Given the description of an element on the screen output the (x, y) to click on. 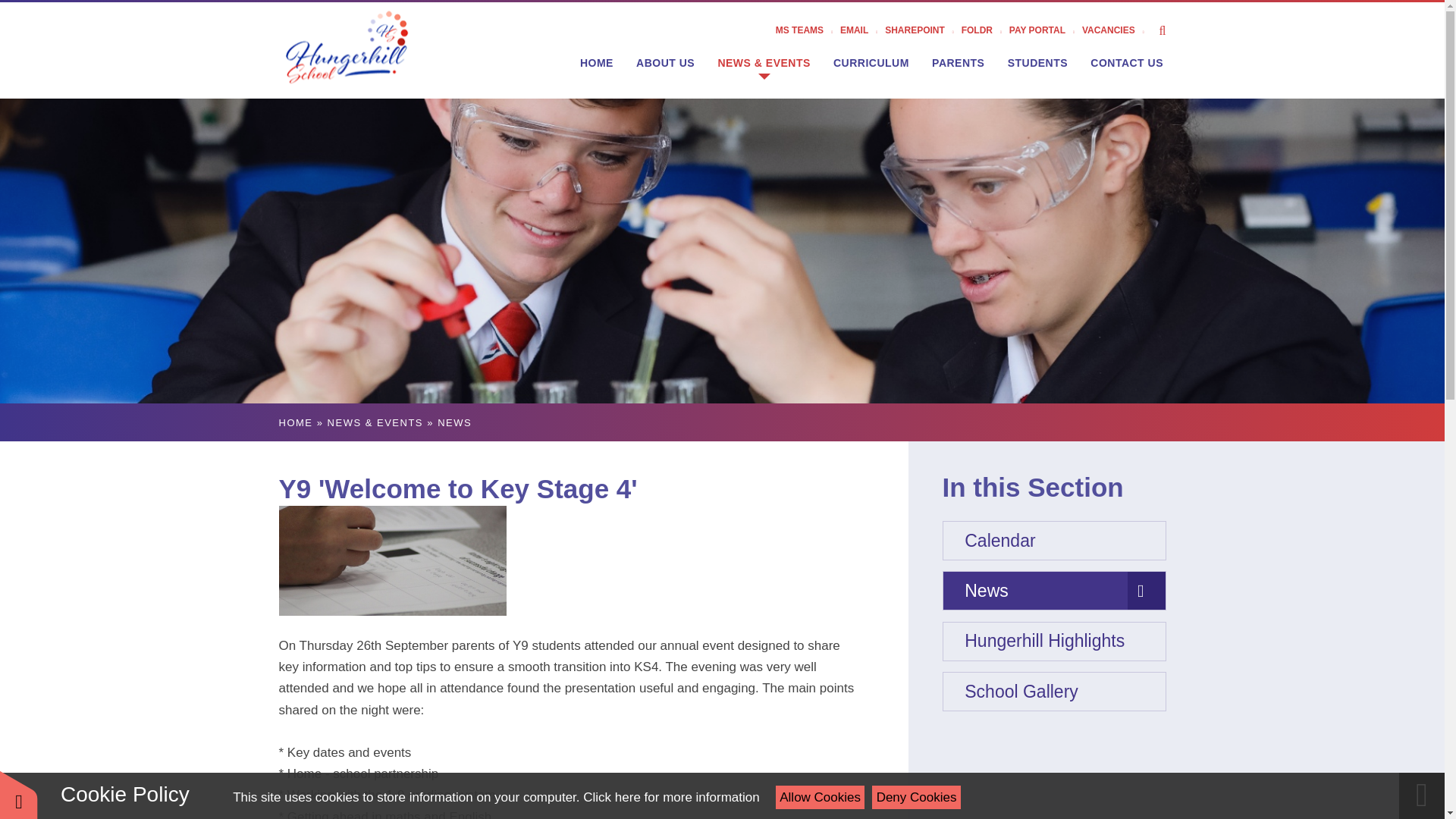
MS Teams (808, 30)
Pay Portal (1045, 30)
FoldR (984, 30)
HOME (595, 62)
ABOUT US (665, 62)
Vacancies (1116, 30)
See cookie policy (670, 797)
Allow Cookies (820, 797)
Email (862, 30)
Sharepoint (922, 30)
